Given the description of an element on the screen output the (x, y) to click on. 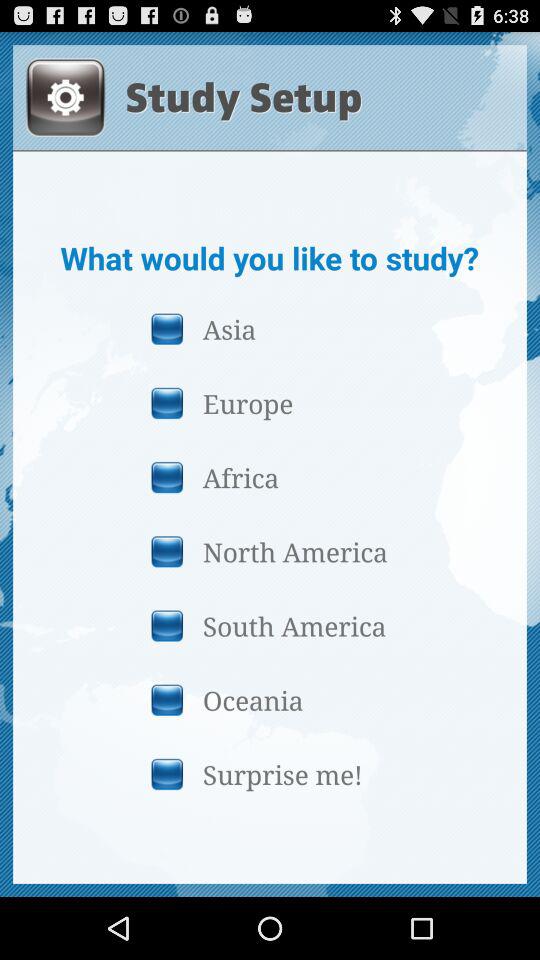
select icon above surprise me! button (269, 700)
